Given the description of an element on the screen output the (x, y) to click on. 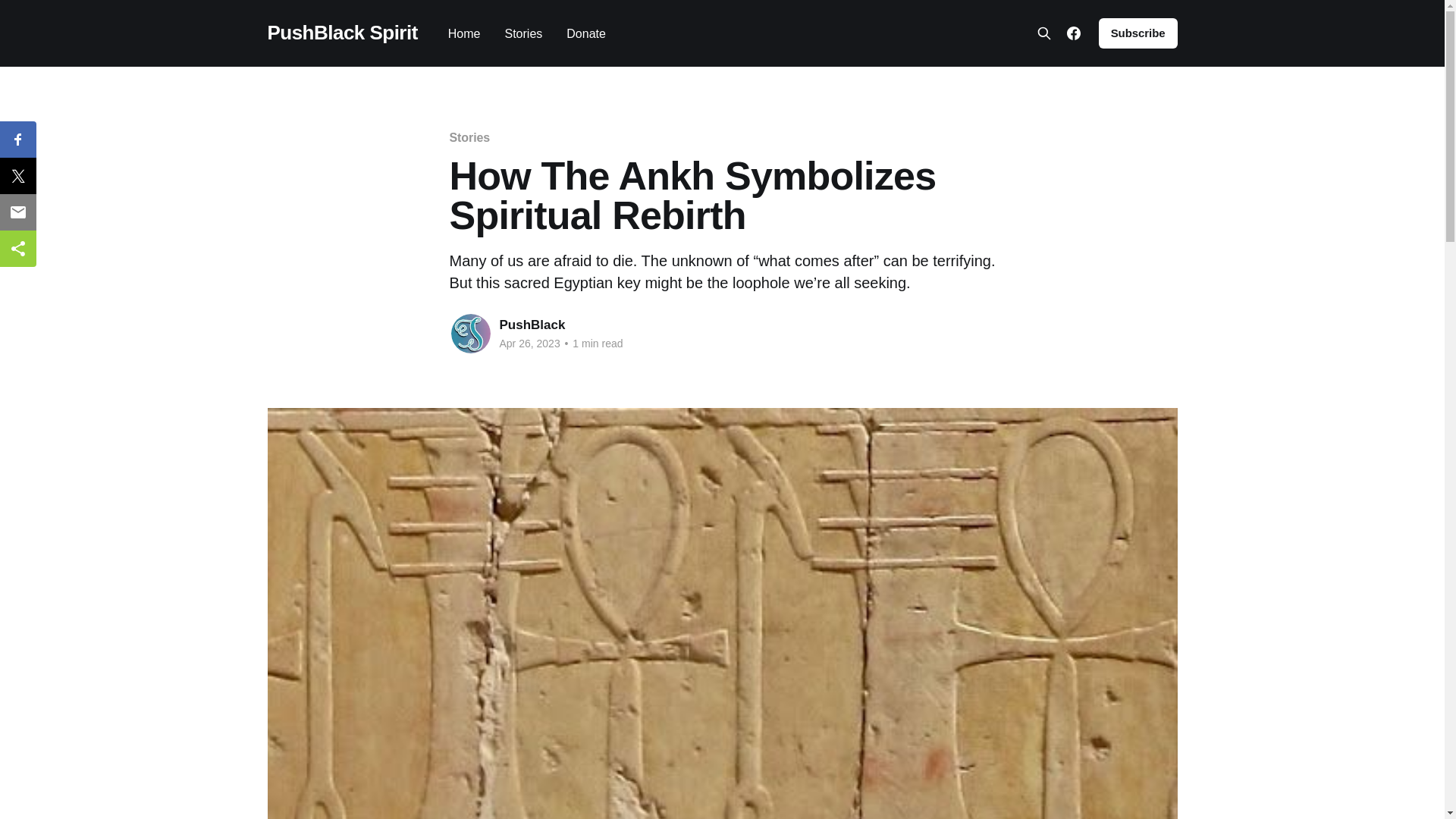
Facebook (1073, 33)
Subscribe (1138, 33)
PushBlack Spirit (341, 32)
Stories (468, 137)
Donate (585, 33)
Home (464, 33)
PushBlack (531, 324)
Stories (522, 33)
